Given the description of an element on the screen output the (x, y) to click on. 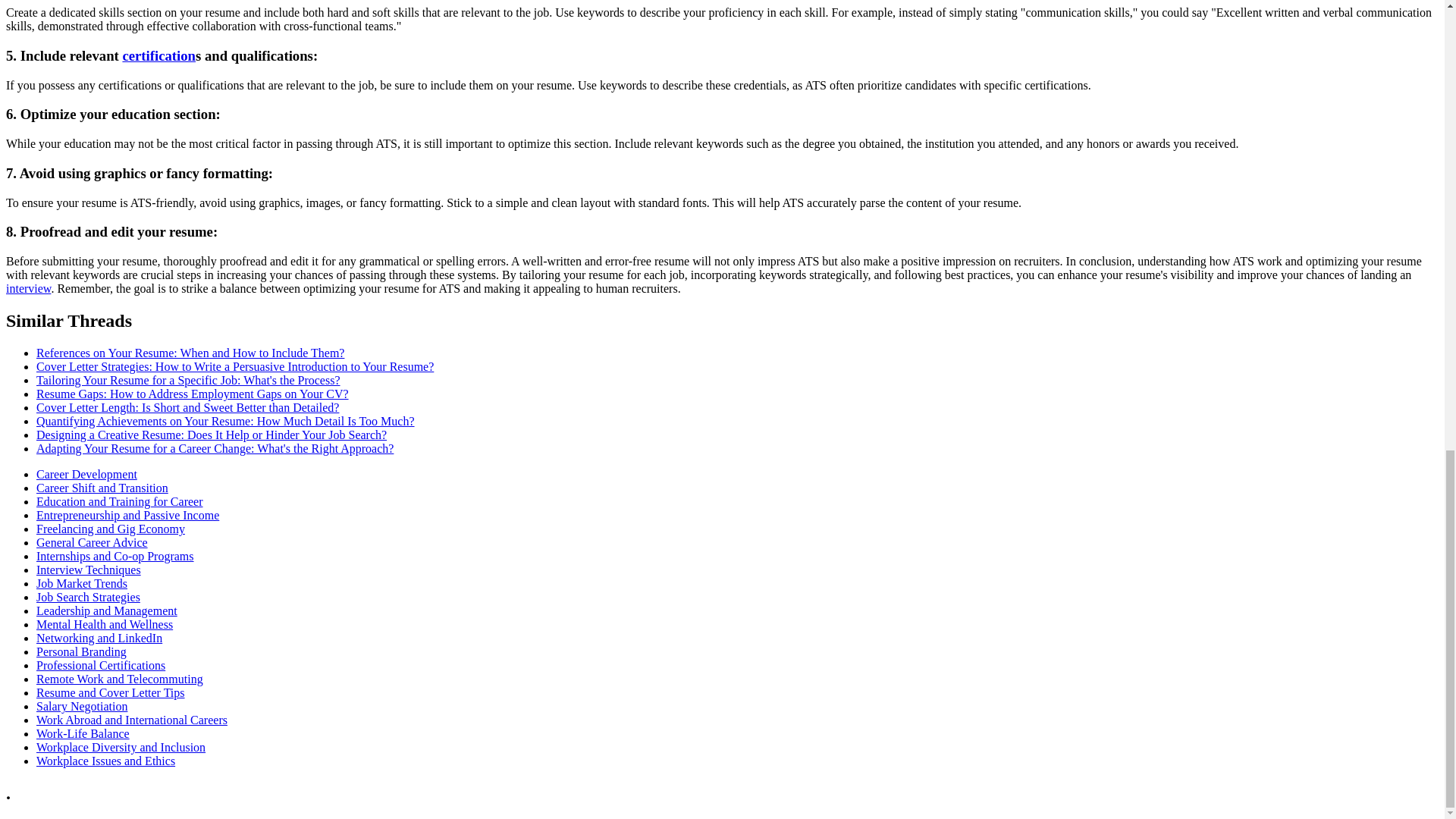
Freelancing and Gig Economy (110, 528)
Entrepreneurship and Passive Income (127, 514)
Job Search Strategies (87, 596)
Education and Training for Career (119, 501)
Career Development (86, 473)
interview (27, 287)
Remote Work and Telecommuting (119, 678)
